Given the description of an element on the screen output the (x, y) to click on. 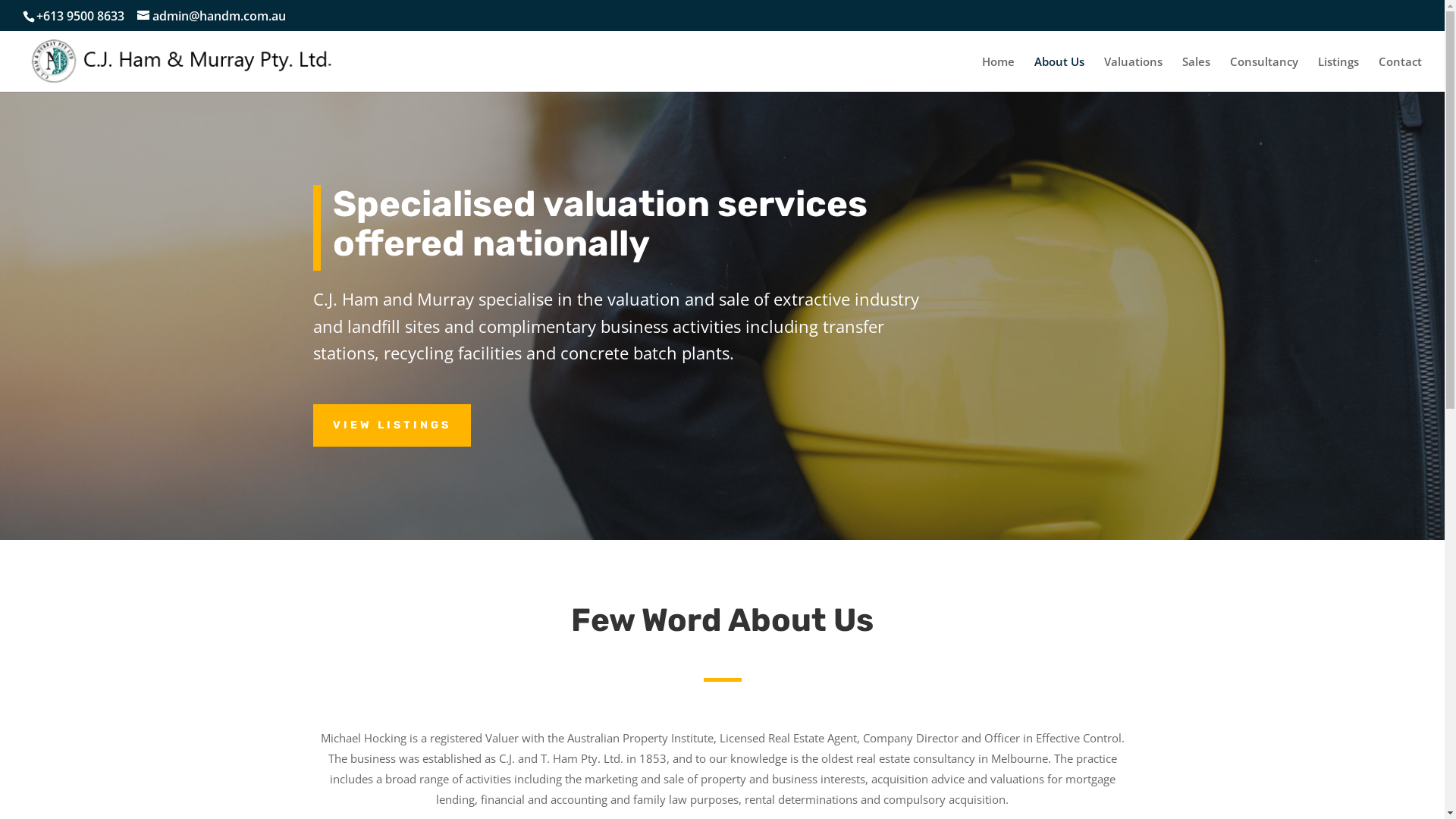
Valuations Element type: text (1133, 73)
Contact Element type: text (1399, 73)
Listings Element type: text (1337, 73)
About Us Element type: text (1059, 73)
Sales Element type: text (1196, 73)
VIEW LISTINGS Element type: text (391, 425)
Consultancy Element type: text (1264, 73)
Home Element type: text (998, 73)
admin@handm.com.au Element type: text (211, 15)
